Given the description of an element on the screen output the (x, y) to click on. 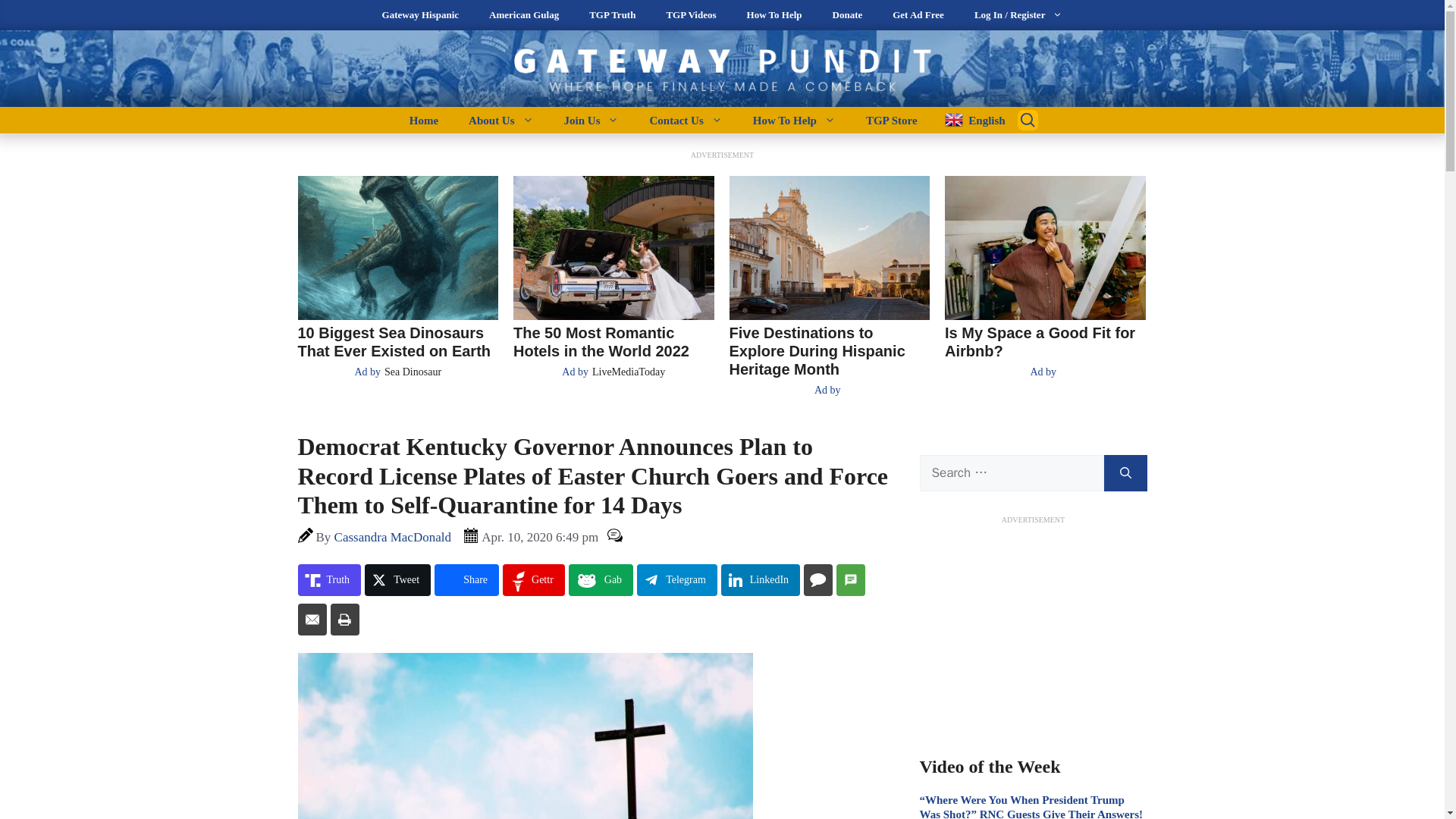
Home (423, 120)
Share on Truth (329, 580)
Share on LinkedIn (759, 580)
About Us (500, 120)
Share on Telegram (677, 580)
TGP Truth (611, 15)
View all posts by Cassandra MacDonald (392, 536)
Share on Gettr (533, 580)
Get Ad Free (918, 15)
English (969, 120)
How To Help (794, 120)
Donate (846, 15)
TGP Store (891, 120)
